Given the description of an element on the screen output the (x, y) to click on. 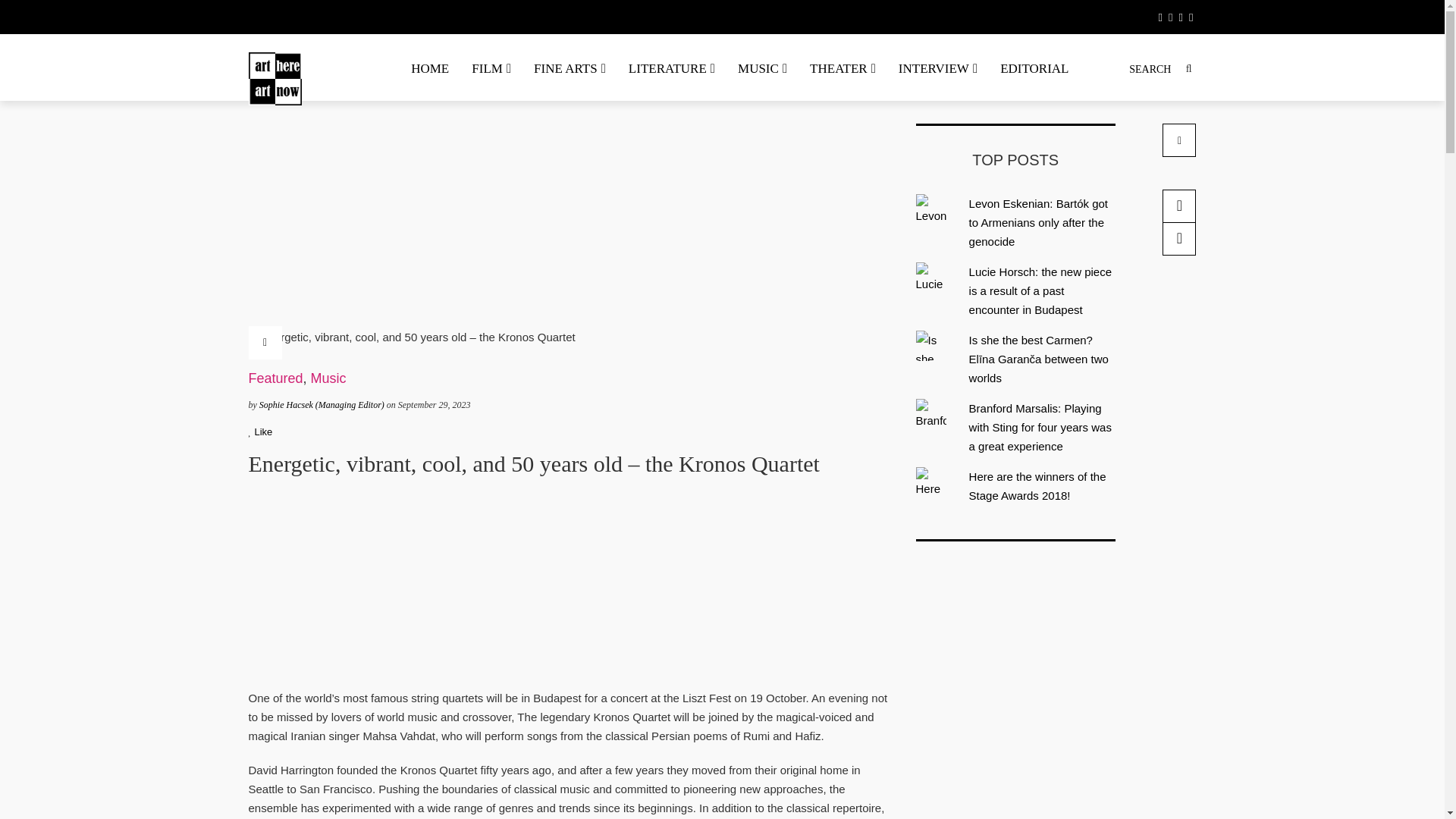
THEATER (841, 68)
Like (260, 431)
FILM (491, 68)
FINE ARTS (569, 68)
Here are the winners of the Stage Awards 2018! (1037, 486)
LITERATURE (671, 68)
HOME (429, 68)
MUSIC (761, 68)
